Given the description of an element on the screen output the (x, y) to click on. 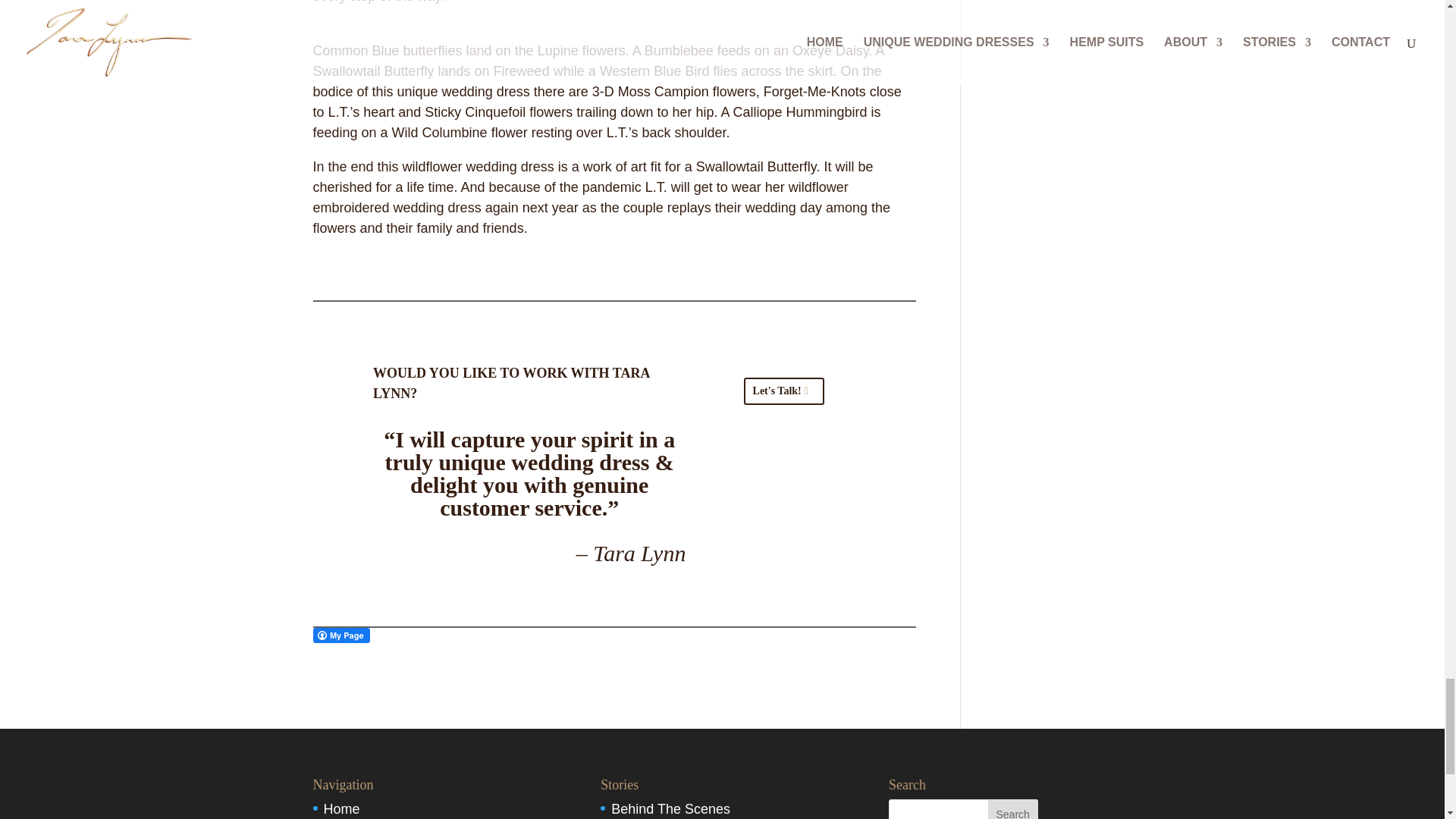
Search (1013, 809)
